Given the description of an element on the screen output the (x, y) to click on. 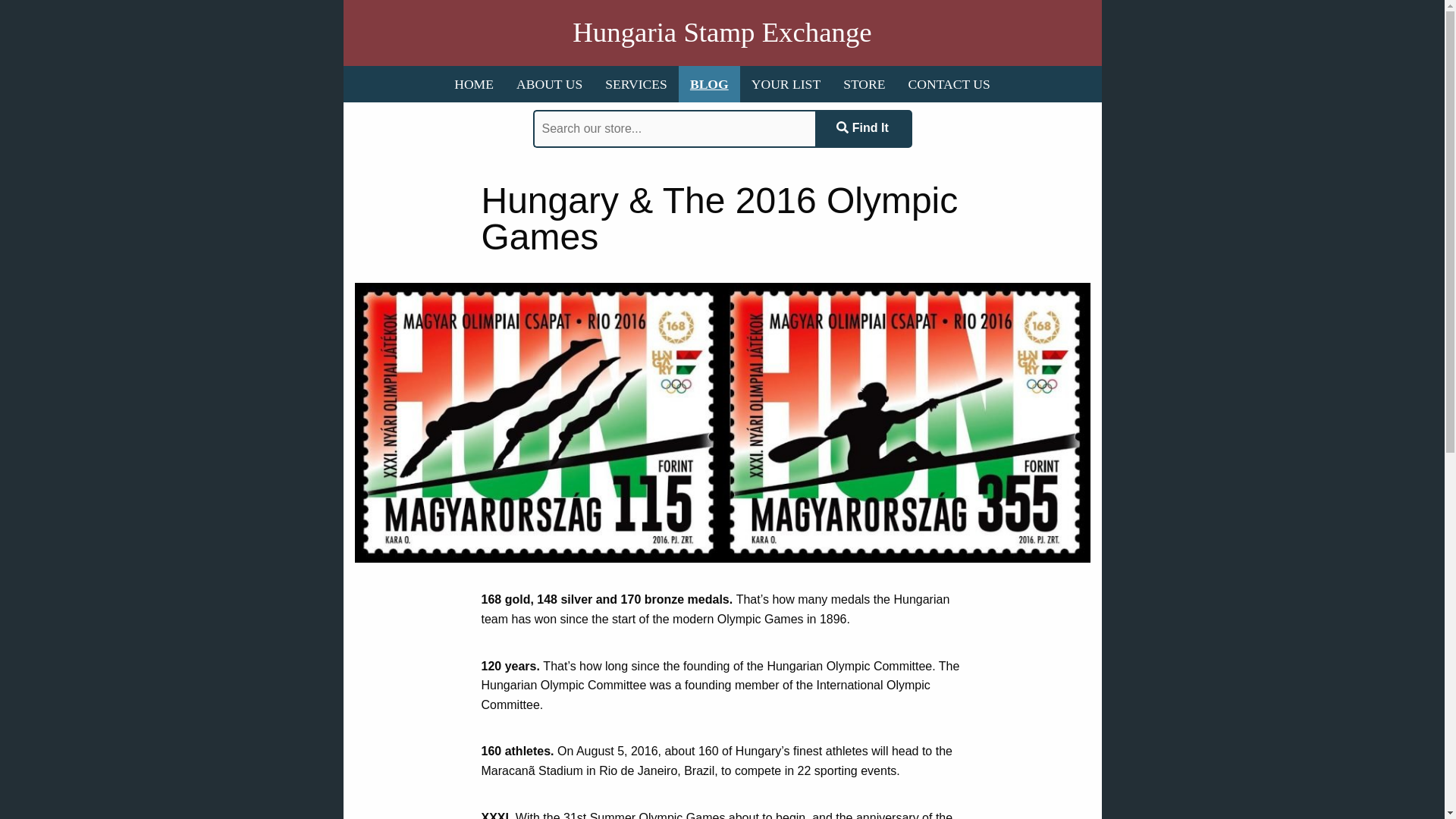
STORE (863, 84)
ABOUT US (549, 84)
Find It (862, 128)
BLOG (708, 84)
Hungaria Stamp Exchange (721, 33)
SERVICES (636, 84)
CONTACT US (948, 84)
YOUR LIST (785, 84)
HOME (473, 84)
